Given the description of an element on the screen output the (x, y) to click on. 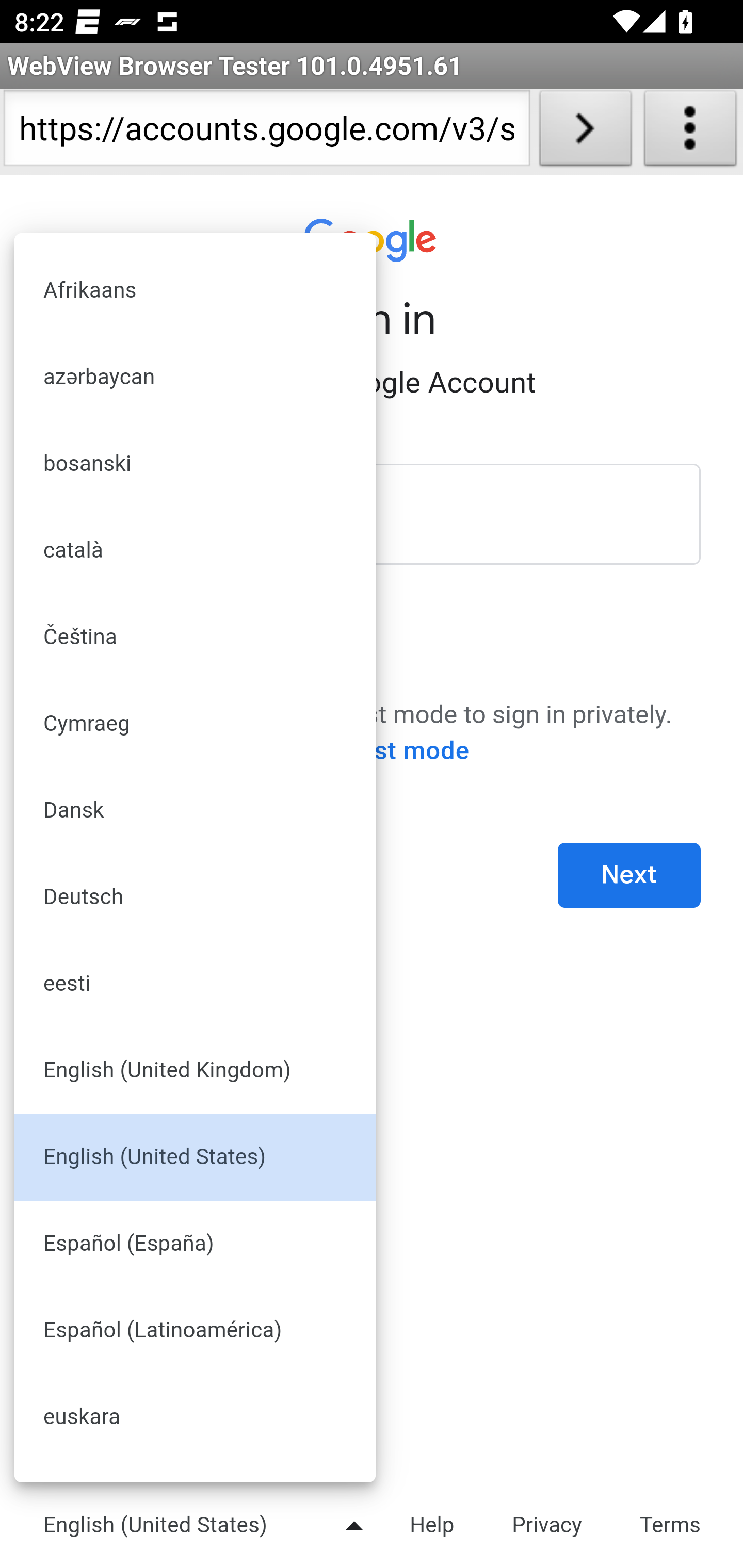
Load URL (585, 132)
About WebView (690, 132)
Afrikaans (195, 291)
azərbaycan (195, 377)
bosanski (195, 464)
català (195, 551)
Čeština (195, 638)
Cymraeg (195, 724)
Dansk (195, 811)
Next (629, 875)
Deutsch (195, 898)
eesti (195, 984)
English (United Kingdom) (195, 1071)
English (United States) (195, 1158)
Español (España) (195, 1244)
Español (Latinoamérica) (195, 1331)
euskara (195, 1417)
Help (430, 1524)
Privacy (547, 1524)
Terms (670, 1524)
